Given the description of an element on the screen output the (x, y) to click on. 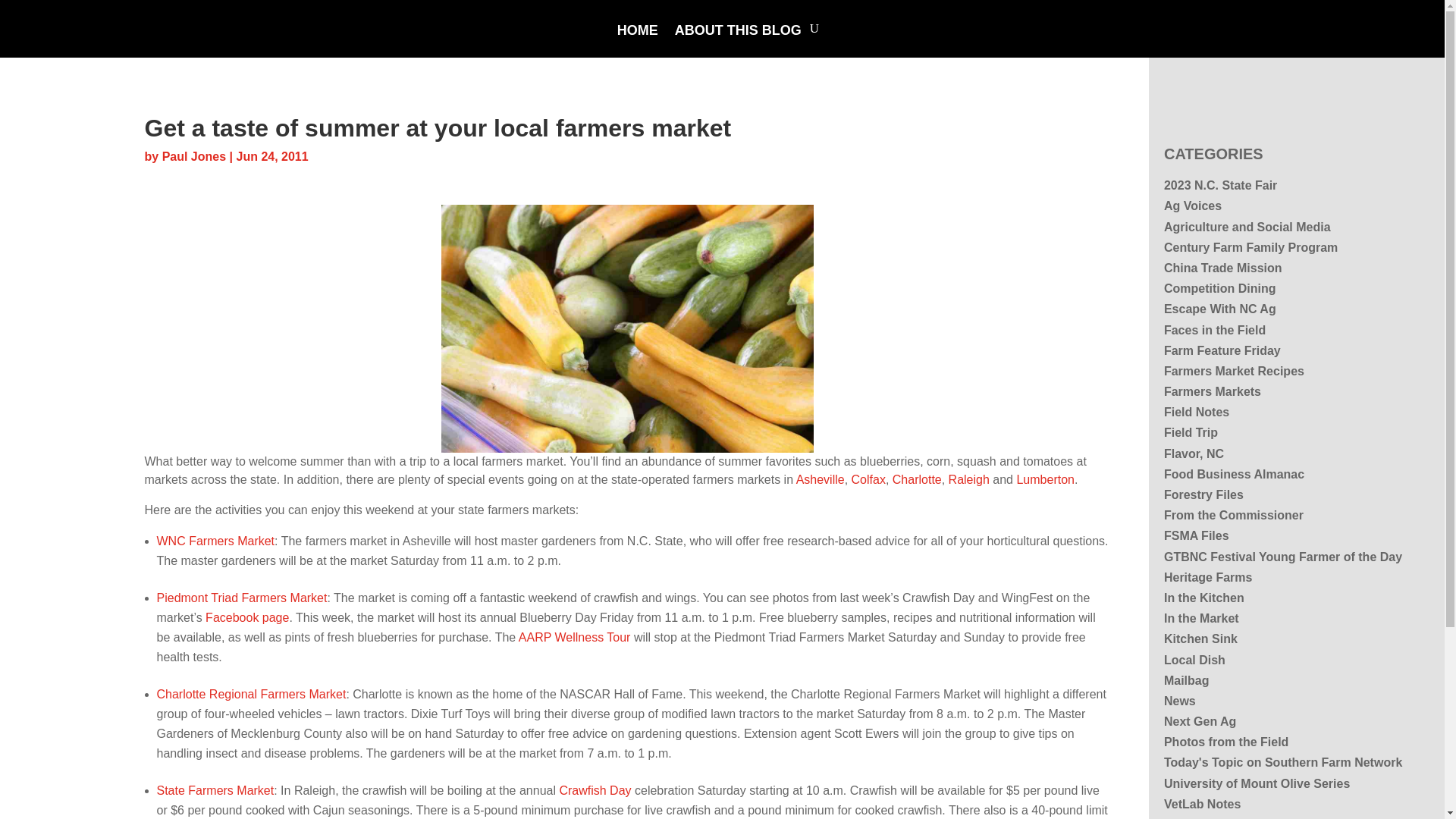
Food Business Almanac (1233, 473)
Century Farm Family Program (1250, 246)
Farmers Markets (1211, 391)
Posts by Paul Jones (193, 155)
AARP Wellness Tour (574, 636)
Escape With NC Ag (1219, 308)
ABOUT THIS BLOG (738, 41)
Field Notes (1195, 411)
Flavor, NC (1193, 453)
China Trade Mission (1222, 267)
HOME (637, 41)
Agriculture and Social Media (1246, 226)
Competition Dining (1219, 287)
Colfax (868, 479)
Facebook page (246, 617)
